Given the description of an element on the screen output the (x, y) to click on. 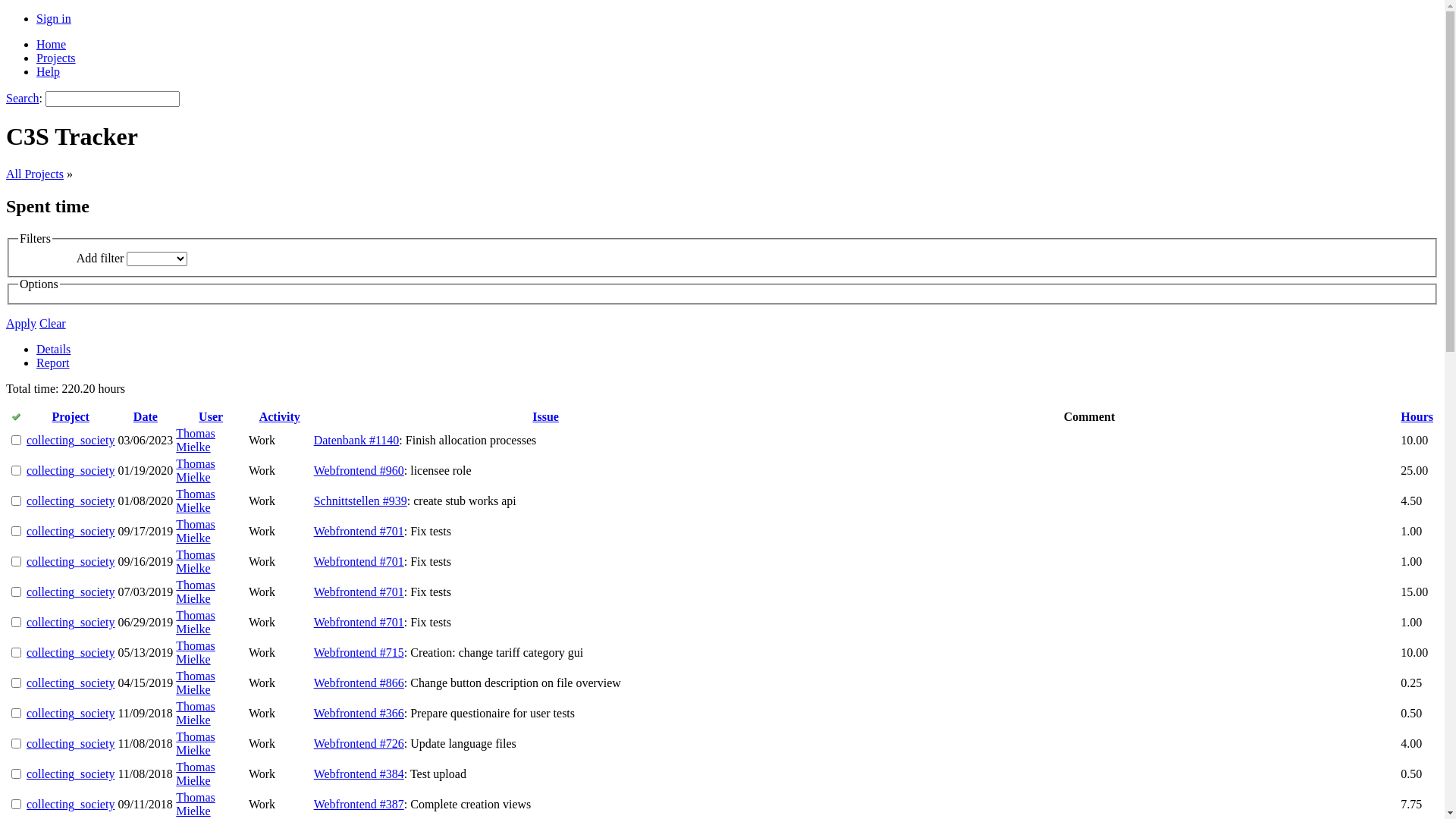
Webfrontend #701 Element type: text (358, 621)
Filters Element type: text (35, 238)
collecting_society Element type: text (70, 439)
All Projects Element type: text (34, 173)
Details Element type: text (53, 348)
Thomas Mielke Element type: text (195, 530)
Schnittstellen #939 Element type: text (360, 500)
Thomas Mielke Element type: text (195, 621)
collecting_society Element type: text (70, 712)
Thomas Mielke Element type: text (195, 561)
Webfrontend #726 Element type: text (358, 743)
Home Element type: text (50, 43)
Thomas Mielke Element type: text (195, 439)
Apply Element type: text (21, 322)
Thomas Mielke Element type: text (195, 470)
Date Element type: text (145, 416)
Project Element type: text (69, 416)
Thomas Mielke Element type: text (195, 803)
Thomas Mielke Element type: text (195, 773)
Projects Element type: text (55, 57)
Activity Element type: text (279, 416)
Thomas Mielke Element type: text (195, 652)
Webfrontend #701 Element type: text (358, 591)
Search Element type: text (22, 97)
User Element type: text (210, 416)
Thomas Mielke Element type: text (195, 591)
Thomas Mielke Element type: text (195, 712)
collecting_society Element type: text (70, 803)
Sign in Element type: text (53, 18)
collecting_society Element type: text (70, 470)
Report Element type: text (52, 362)
Webfrontend #387 Element type: text (358, 803)
collecting_society Element type: text (70, 530)
Hours Element type: text (1416, 416)
Webfrontend #366 Element type: text (358, 712)
collecting_society Element type: text (70, 621)
Webfrontend #701 Element type: text (358, 561)
Help Element type: text (47, 71)
Thomas Mielke Element type: text (195, 500)
Clear Element type: text (52, 322)
Webfrontend #866 Element type: text (358, 682)
collecting_society Element type: text (70, 652)
collecting_society Element type: text (70, 773)
collecting_society Element type: text (70, 743)
collecting_society Element type: text (70, 561)
Webfrontend #701 Element type: text (358, 530)
Webfrontend #384 Element type: text (358, 773)
Webfrontend #715 Element type: text (358, 652)
Check all/Uncheck all Element type: hover (16, 416)
Thomas Mielke Element type: text (195, 743)
collecting_society Element type: text (70, 500)
Options Element type: text (38, 284)
Webfrontend #960 Element type: text (358, 470)
Datenbank #1140 Element type: text (356, 439)
collecting_society Element type: text (70, 682)
Issue Element type: text (545, 416)
Thomas Mielke Element type: text (195, 682)
collecting_society Element type: text (70, 591)
